Given the description of an element on the screen output the (x, y) to click on. 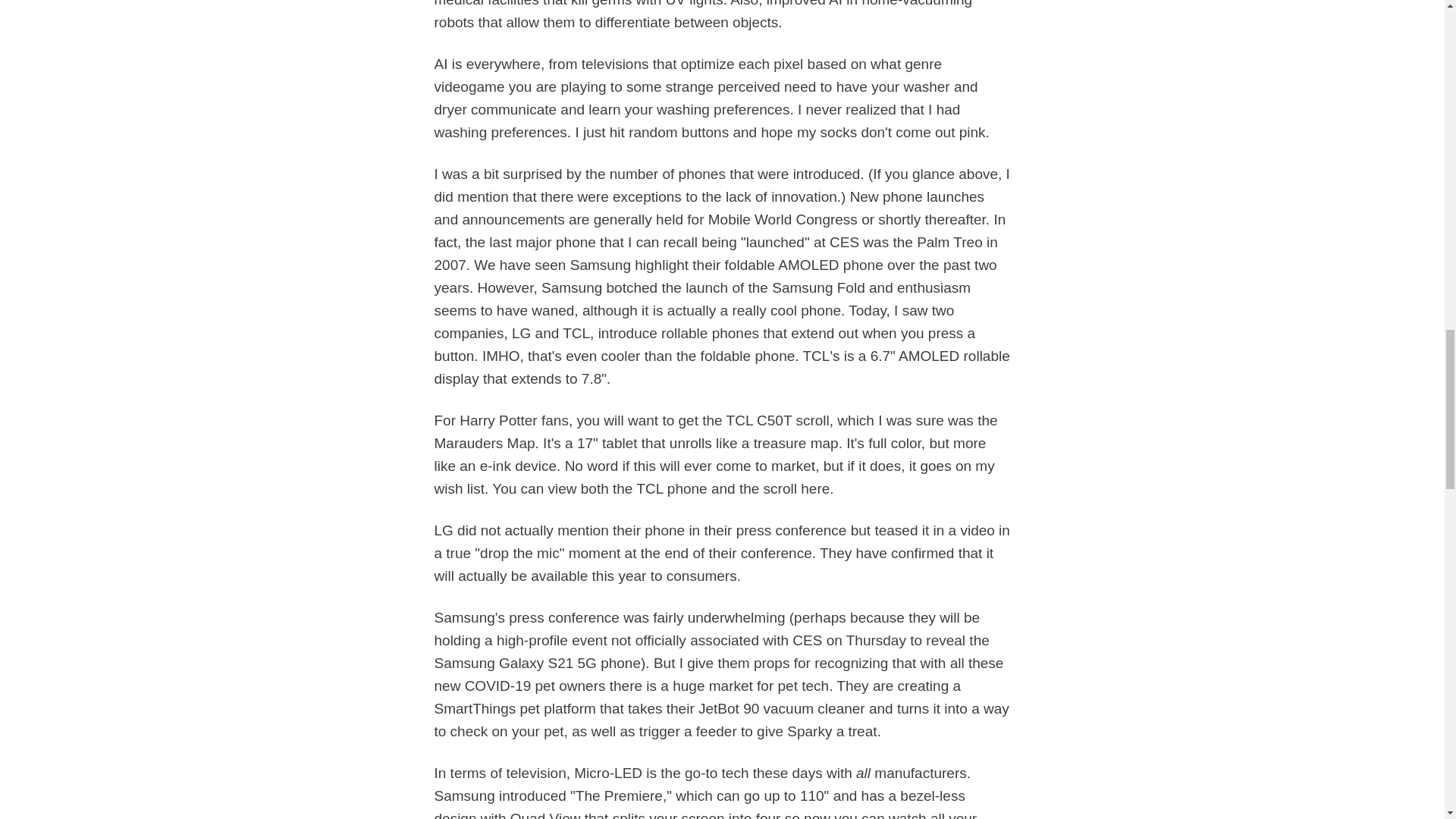
video (976, 530)
here. (816, 488)
